Given the description of an element on the screen output the (x, y) to click on. 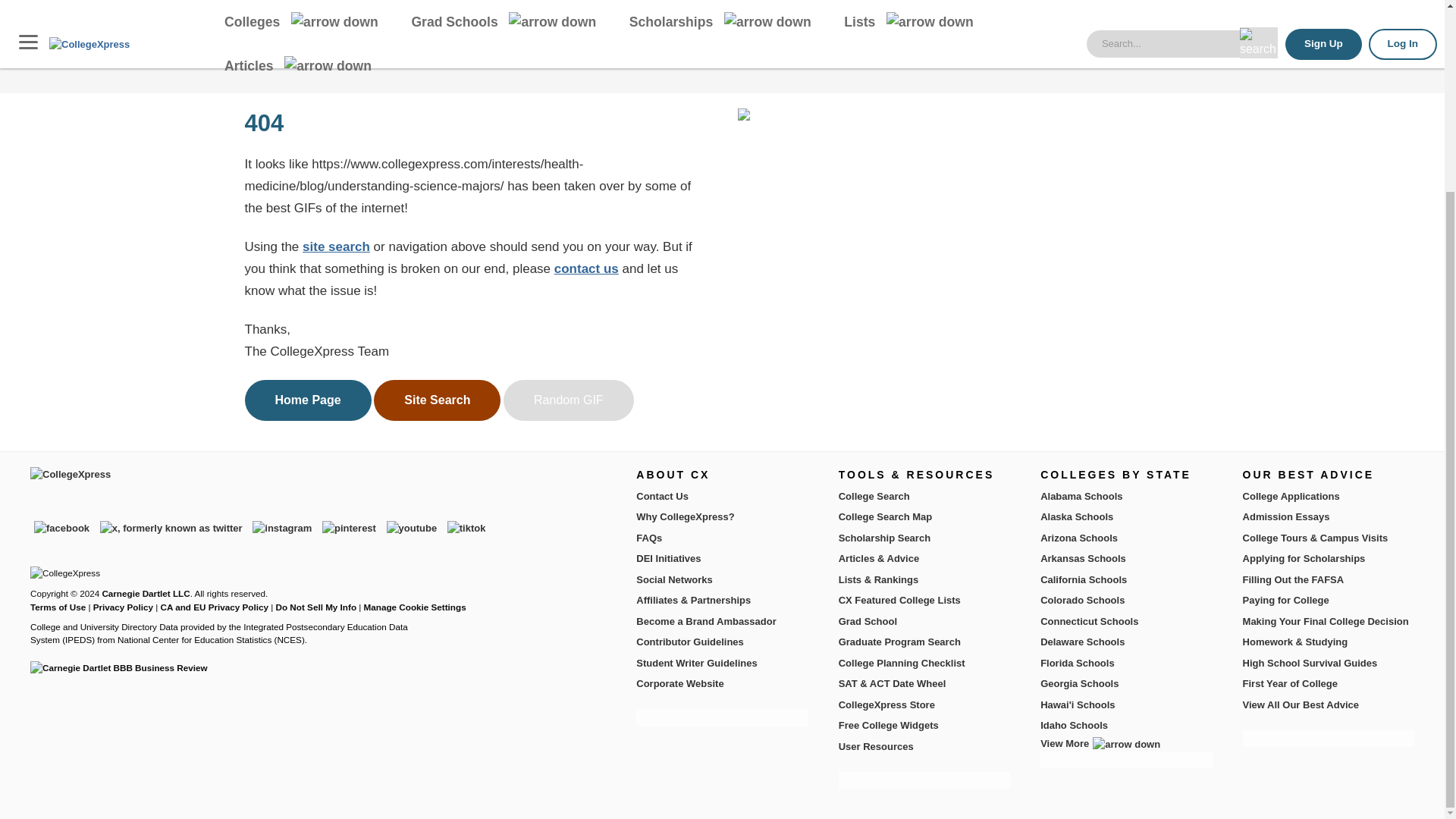
Facebook (61, 527)
Pinterest (349, 527)
YouTube (411, 527)
Carnegie Dartlet BBB Business Review (119, 667)
Instagram (281, 527)
X, formerly known as Twitter (171, 527)
TikTok (466, 527)
